Given the description of an element on the screen output the (x, y) to click on. 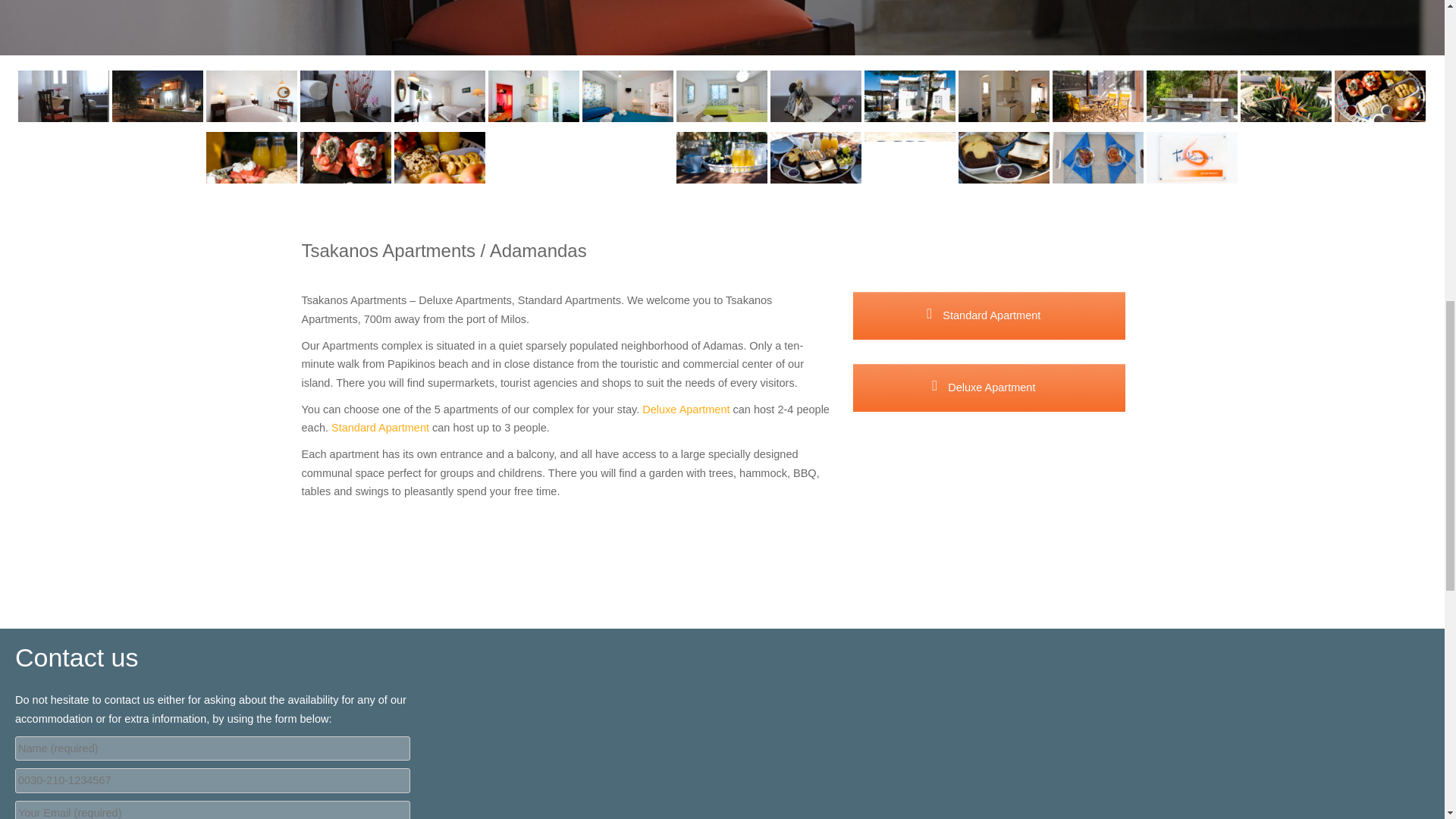
Deluxe Apartment (685, 409)
